Given the description of an element on the screen output the (x, y) to click on. 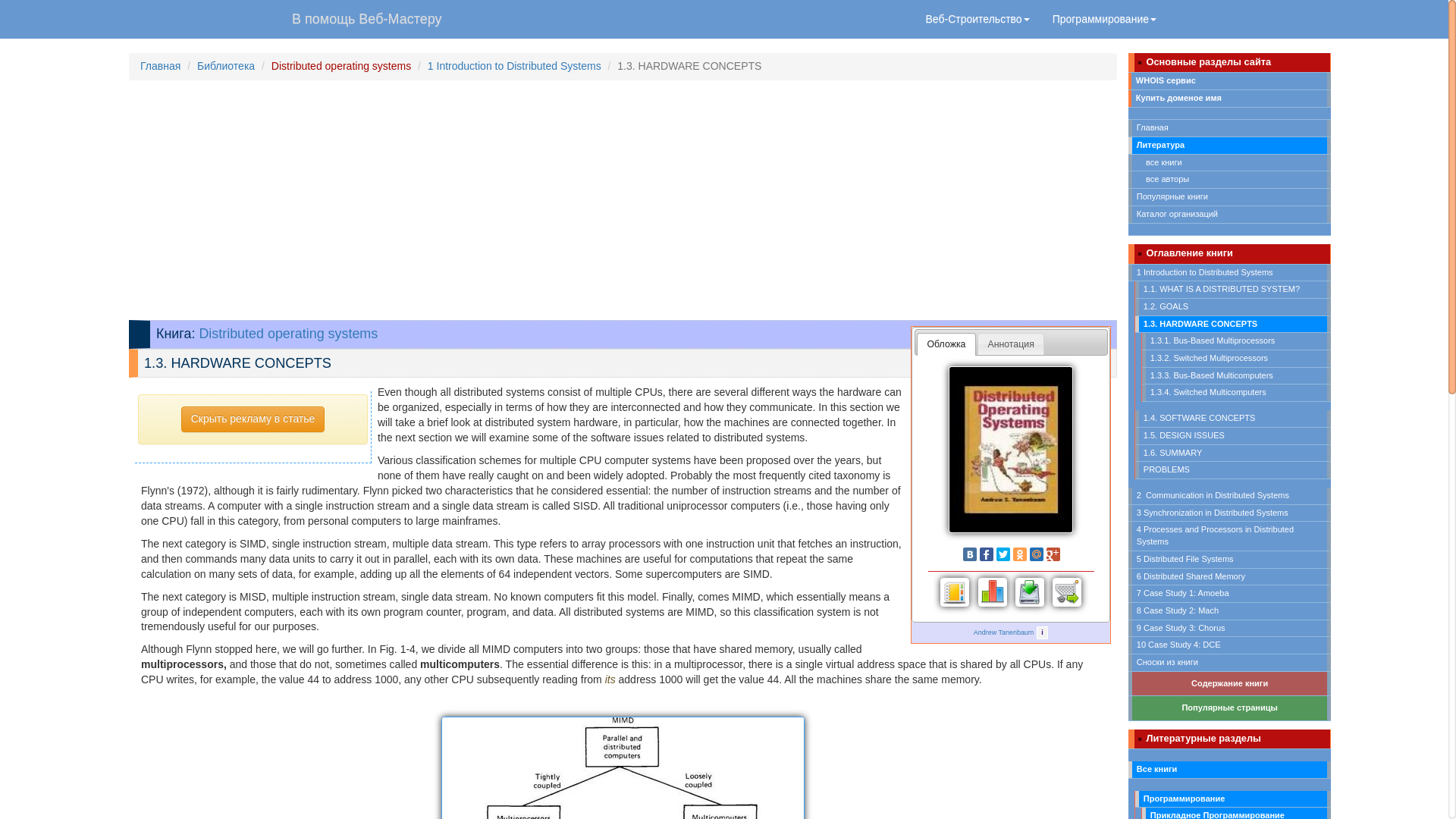
1 Introduction to Distributed Systems (514, 65)
Distributed operating systems (287, 333)
Distributed operating systems (340, 65)
1.3. HARDWARE CONCEPTS (623, 767)
Andrew Tanenbaum (1003, 632)
Twitter (1002, 554)
Google Plus (1052, 554)
Facebook (985, 554)
